Given the description of an element on the screen output the (x, y) to click on. 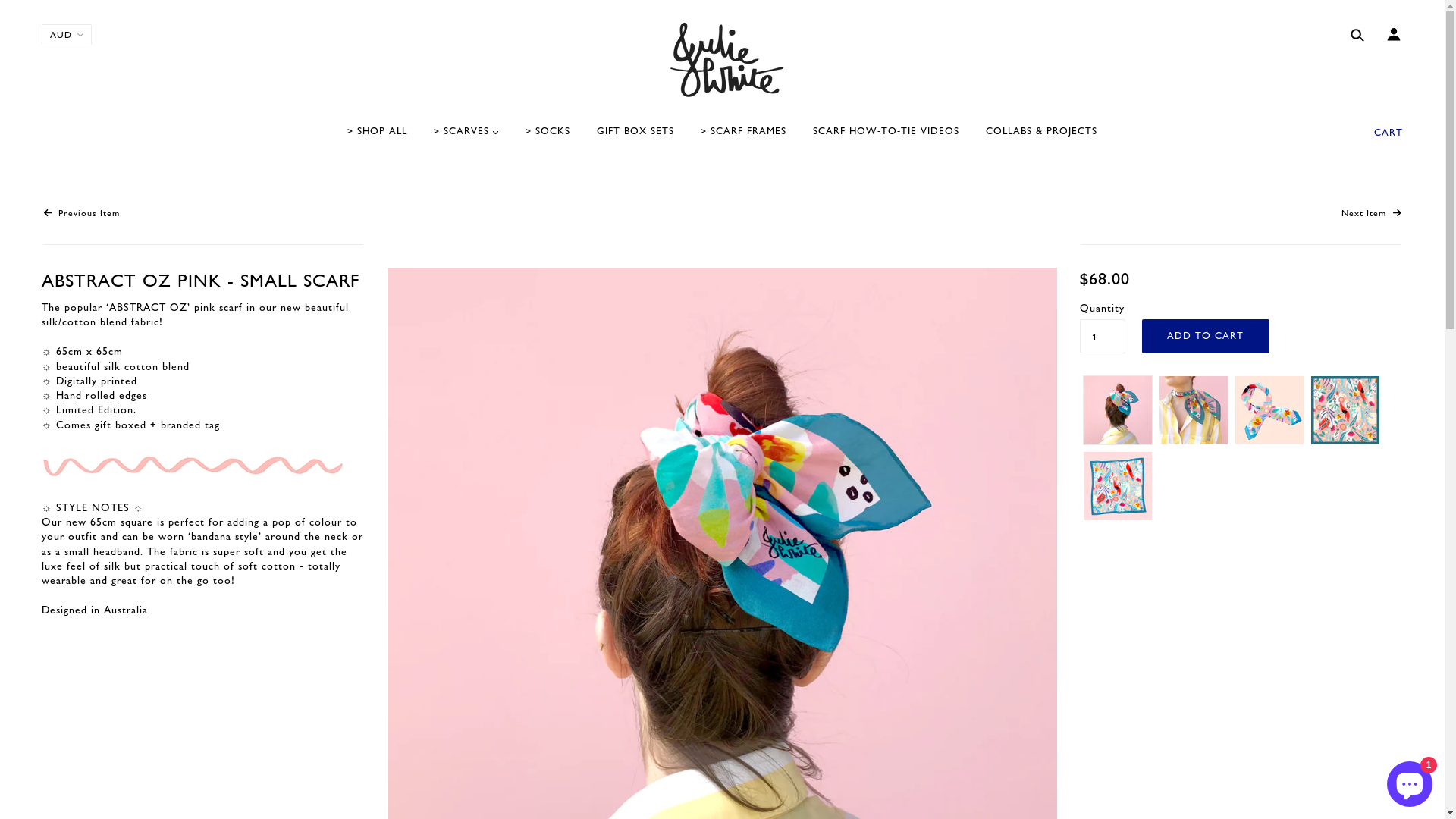
> SCARVES Element type: text (465, 137)
SCARF HOW-TO-TIE VIDEOS Element type: text (885, 137)
Next Item Element type: text (1371, 213)
COLLABS & PROJECTS Element type: text (1041, 137)
CART Element type: text (1388, 132)
Julie White Shop Element type: hover (721, 60)
Shopify online store chat Element type: hover (1409, 780)
Previous Item Element type: text (81, 213)
> SOCKS Element type: text (547, 137)
> SCARF FRAMES Element type: text (743, 137)
> SHOP ALL Element type: text (376, 137)
Add to Cart Element type: text (1205, 336)
GIFT BOX SETS Element type: text (635, 137)
